Given the description of an element on the screen output the (x, y) to click on. 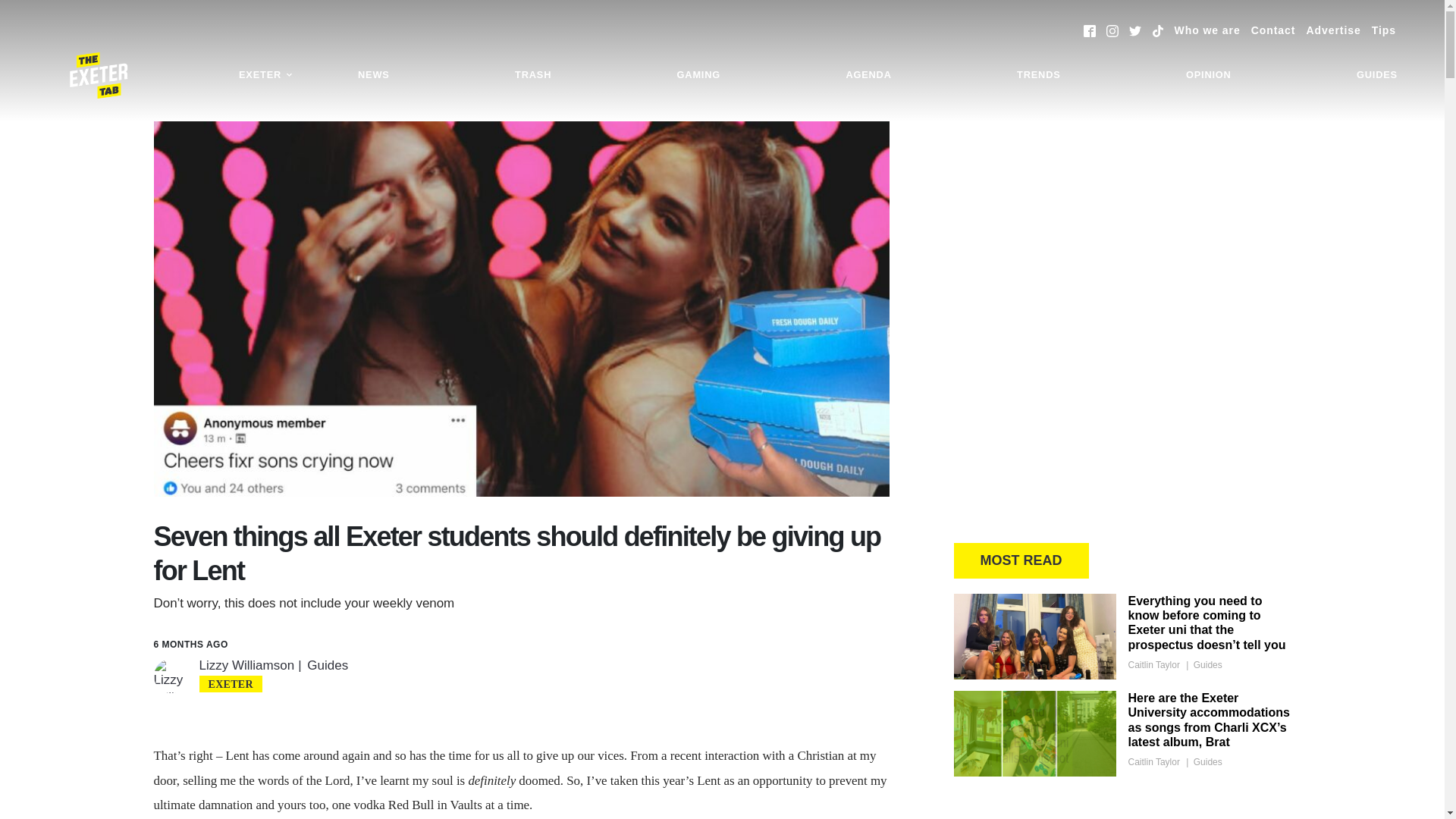
GUIDES (1377, 75)
EXETER (265, 75)
AGENDA (868, 75)
Contact (1272, 29)
GAMING (698, 75)
NEWS (373, 75)
Advertise (1332, 29)
Who we are (1207, 29)
Tips (1383, 29)
TRASH (532, 75)
